Given the description of an element on the screen output the (x, y) to click on. 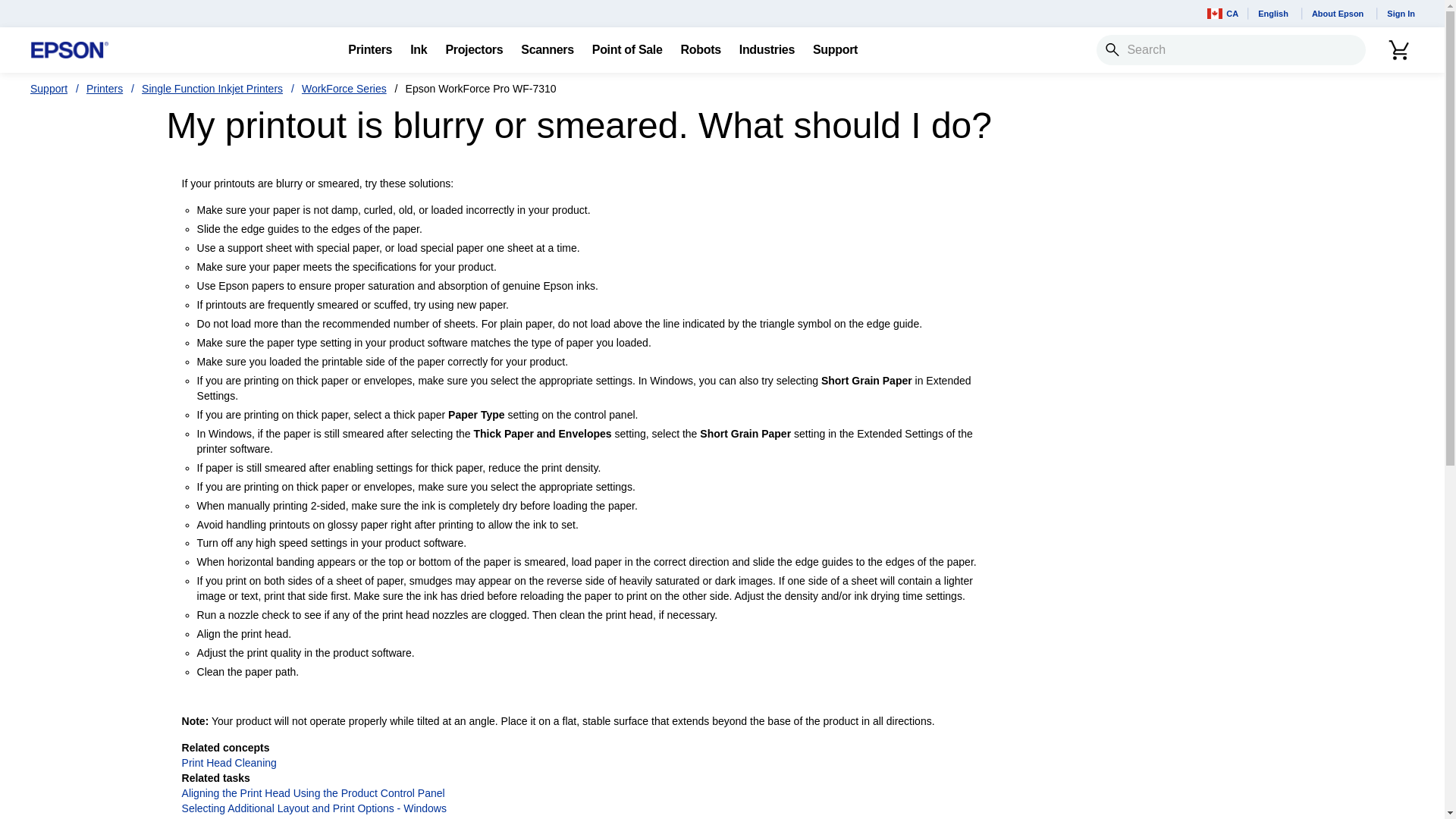
Sign In (1400, 13)
Sign In (1400, 13)
Epson Logo (69, 49)
CA (1222, 13)
English (1275, 13)
English (1275, 13)
CA (1222, 13)
About Epson (1339, 13)
